Given the description of an element on the screen output the (x, y) to click on. 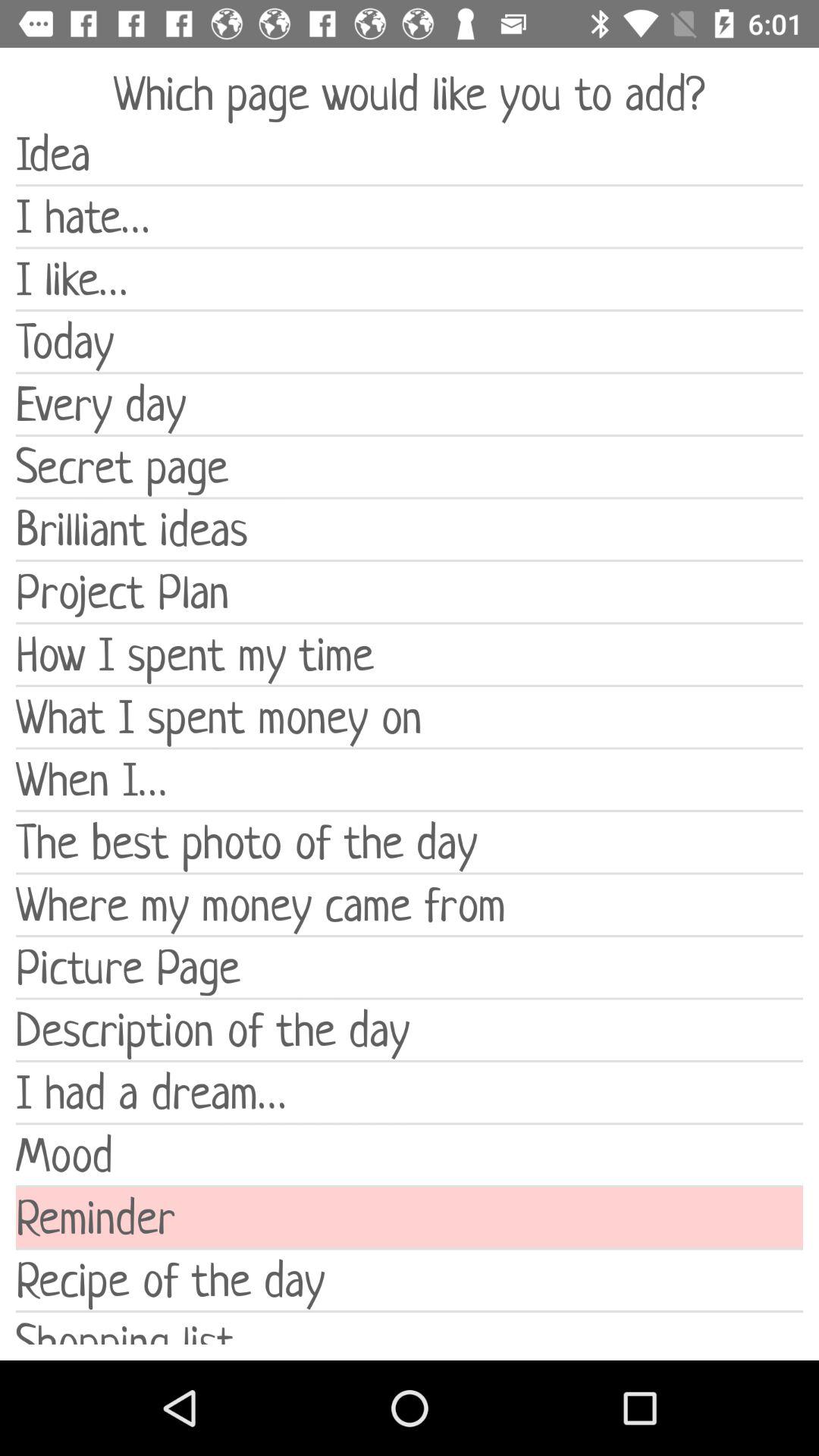
press reminder (409, 1217)
